Given the description of an element on the screen output the (x, y) to click on. 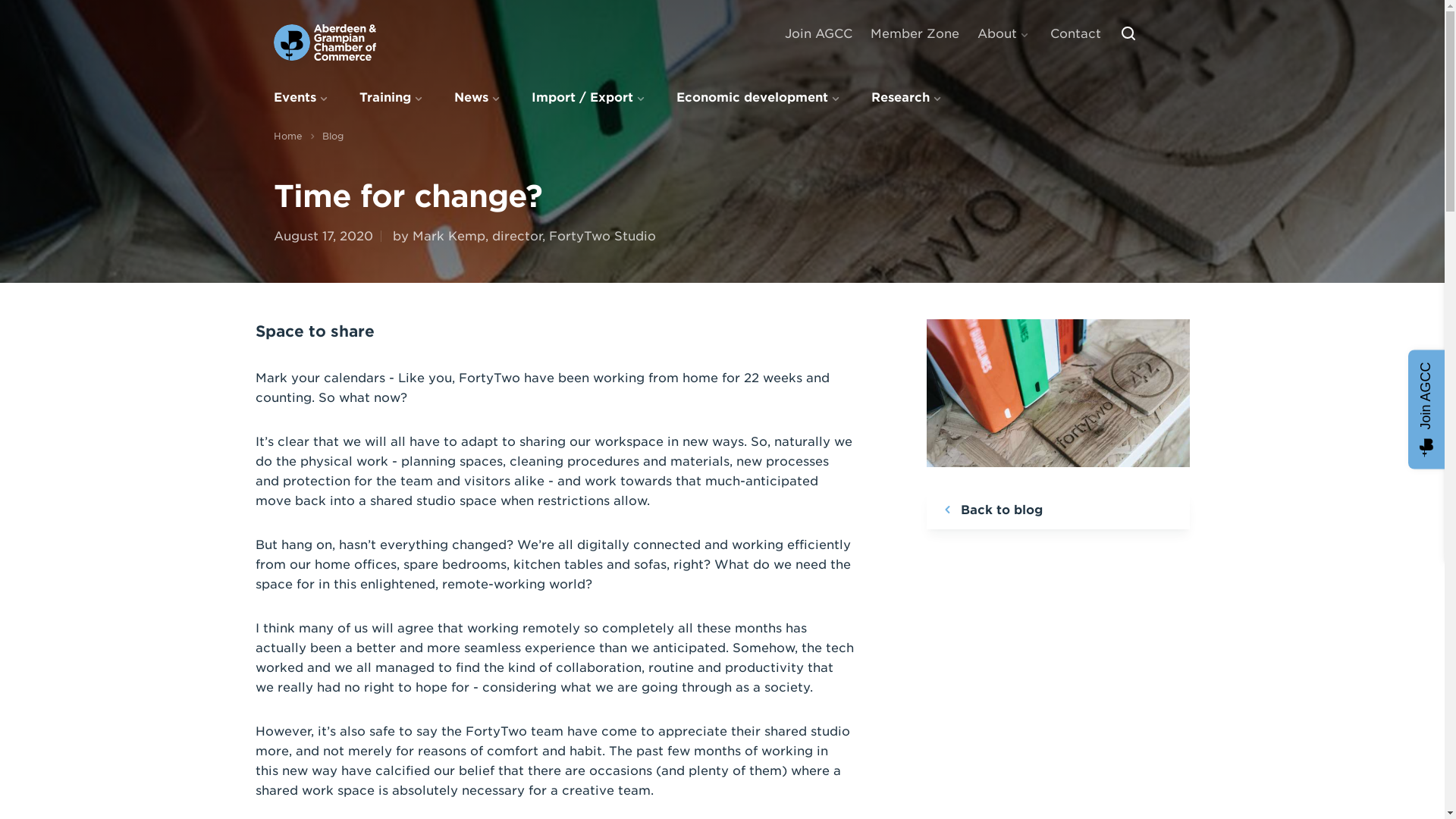
News (478, 97)
Events (301, 97)
Training (392, 97)
Economic development (759, 97)
